Given the description of an element on the screen output the (x, y) to click on. 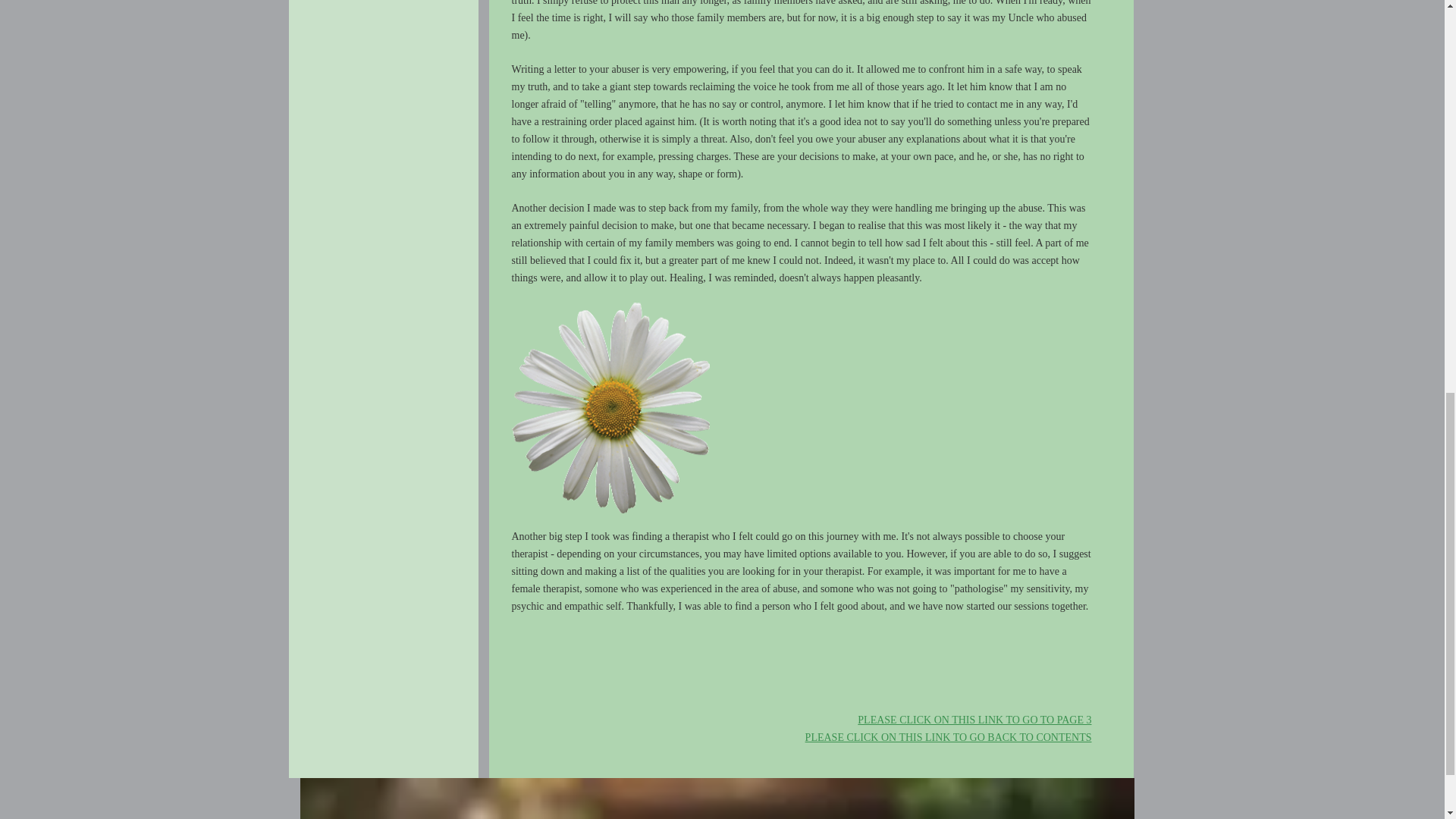
PLEASE CLICK ON THIS LINK TO GO TO PAGE 3 (973, 720)
PLEASE CLICK ON THIS LINK TO GO BACK TO CONTENTS (948, 737)
